Given the description of an element on the screen output the (x, y) to click on. 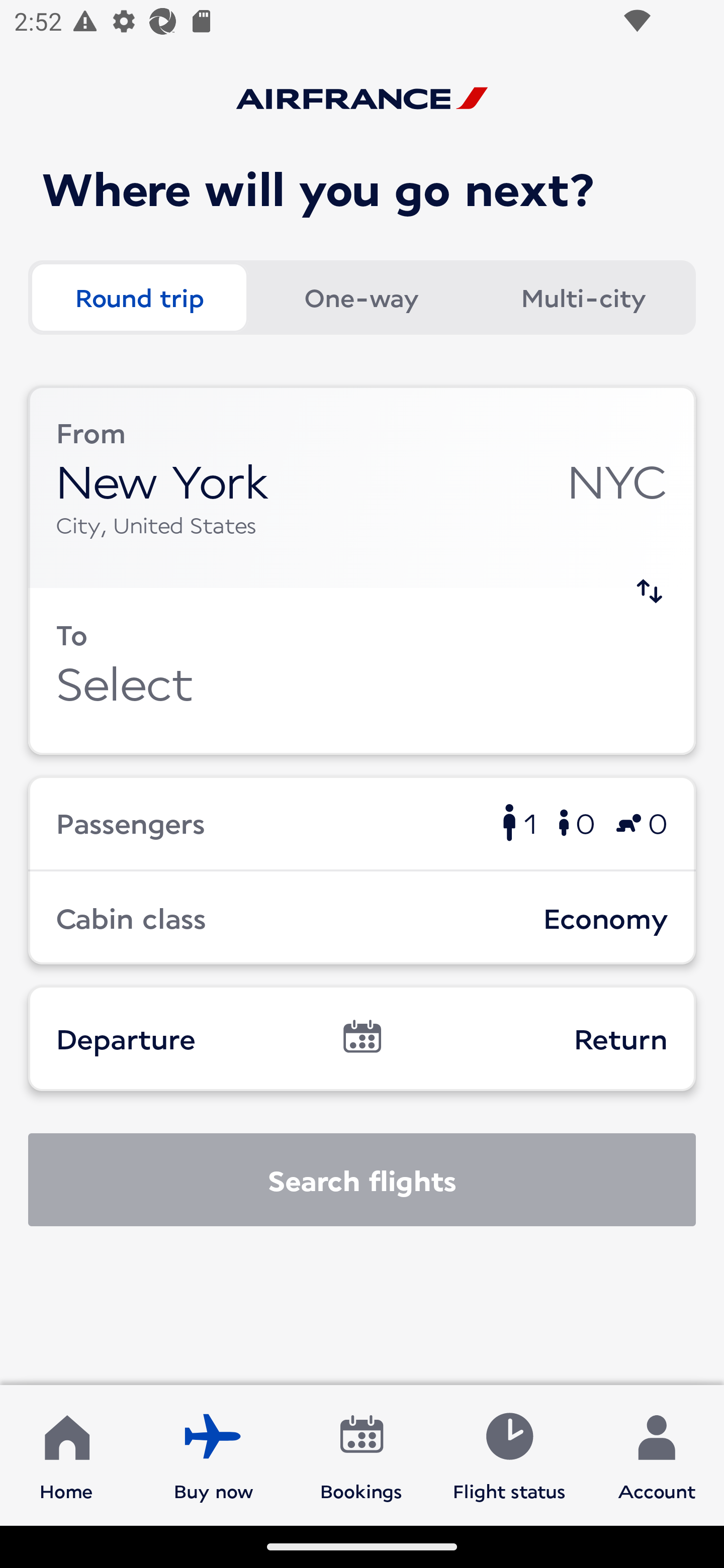
Round trip (139, 297)
One-way (361, 297)
Multi-city (583, 297)
From New York NYC City, United States (361, 486)
To Select (361, 671)
Passengers 1 0 0 (361, 822)
Cabin class Economy (361, 917)
Departure Return (361, 1038)
Search flights (361, 1179)
Home (66, 1454)
Bookings (361, 1454)
Flight status (509, 1454)
Account (657, 1454)
